Given the description of an element on the screen output the (x, y) to click on. 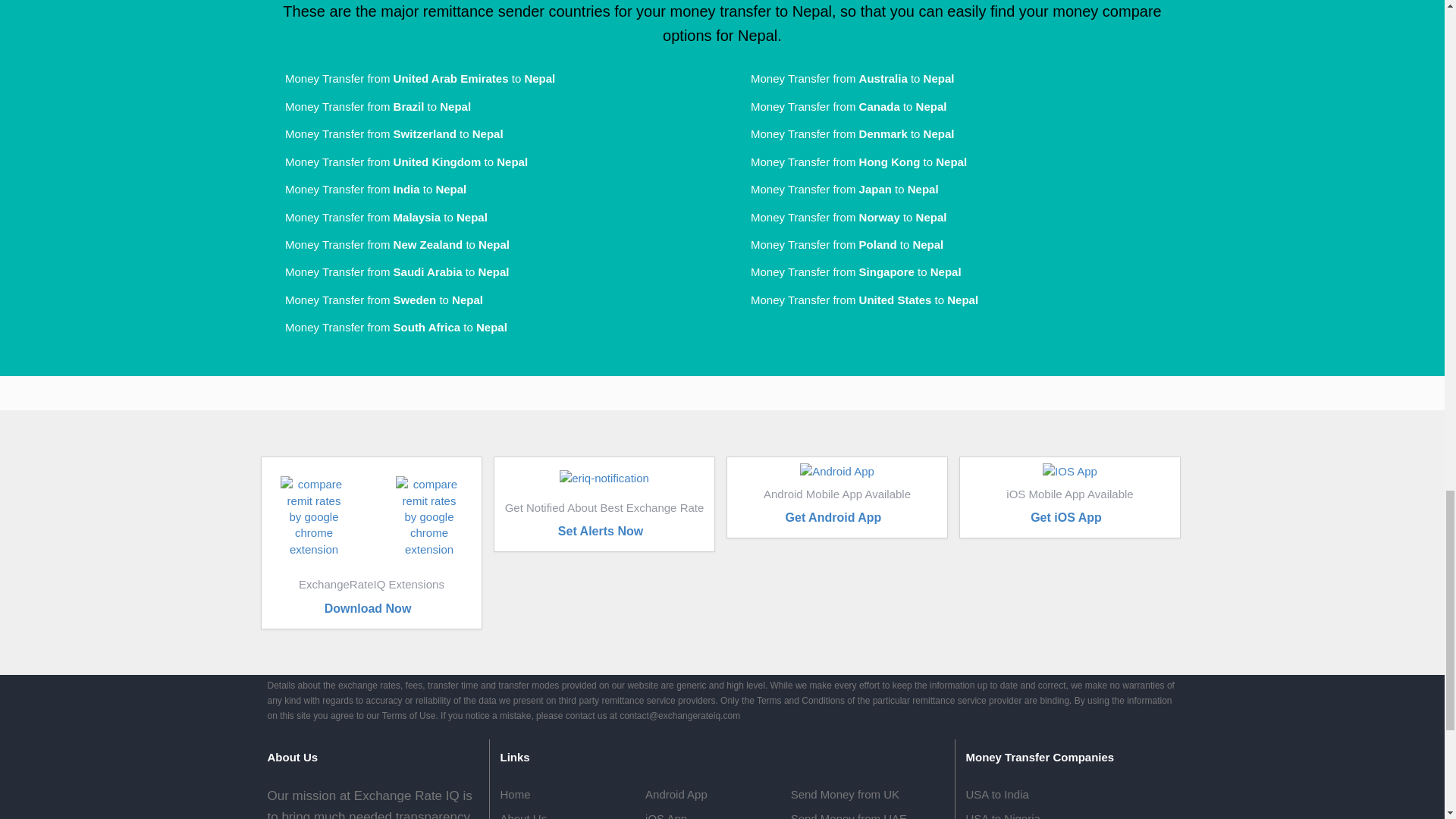
Money Transfer from India to Nepal (365, 188)
Money Transfer from Brazil to Nepal (368, 106)
Money Transfer from Australia to Nepal (842, 78)
Money Transfer from United Kingdom to Nepal (396, 161)
Money Transfer from Switzerland to Nepal (384, 133)
Money Transfer from United Arab Emirates to Nepal (410, 78)
Money Transfer from Hong Kong to Nepal (849, 161)
Money Transfer from Canada to Nepal (839, 106)
Money Transfer from Denmark to Nepal (842, 133)
Money Transfer from Japan to Nepal (834, 188)
